Given the description of an element on the screen output the (x, y) to click on. 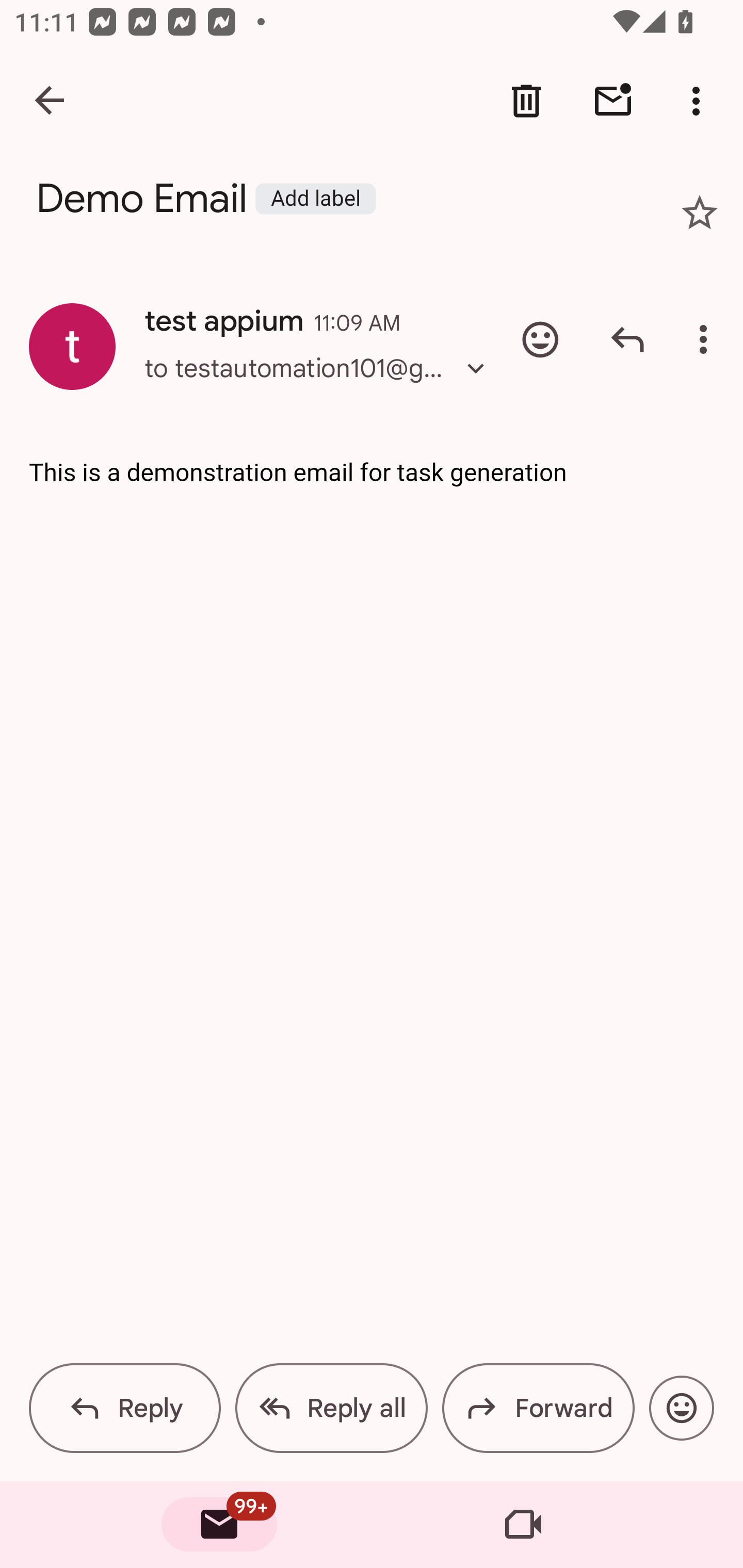
Navigate up (50, 101)
Delete (525, 101)
Mark unread (612, 101)
More options (699, 101)
Add star (699, 212)
Add emoji reaction (540, 339)
Reply (626, 339)
More options (706, 339)
Show contact information for test appium (71, 346)
Reply (124, 1407)
Reply all (331, 1407)
Forward (538, 1407)
Add emoji reaction (681, 1407)
Meet (523, 1524)
